Given the description of an element on the screen output the (x, y) to click on. 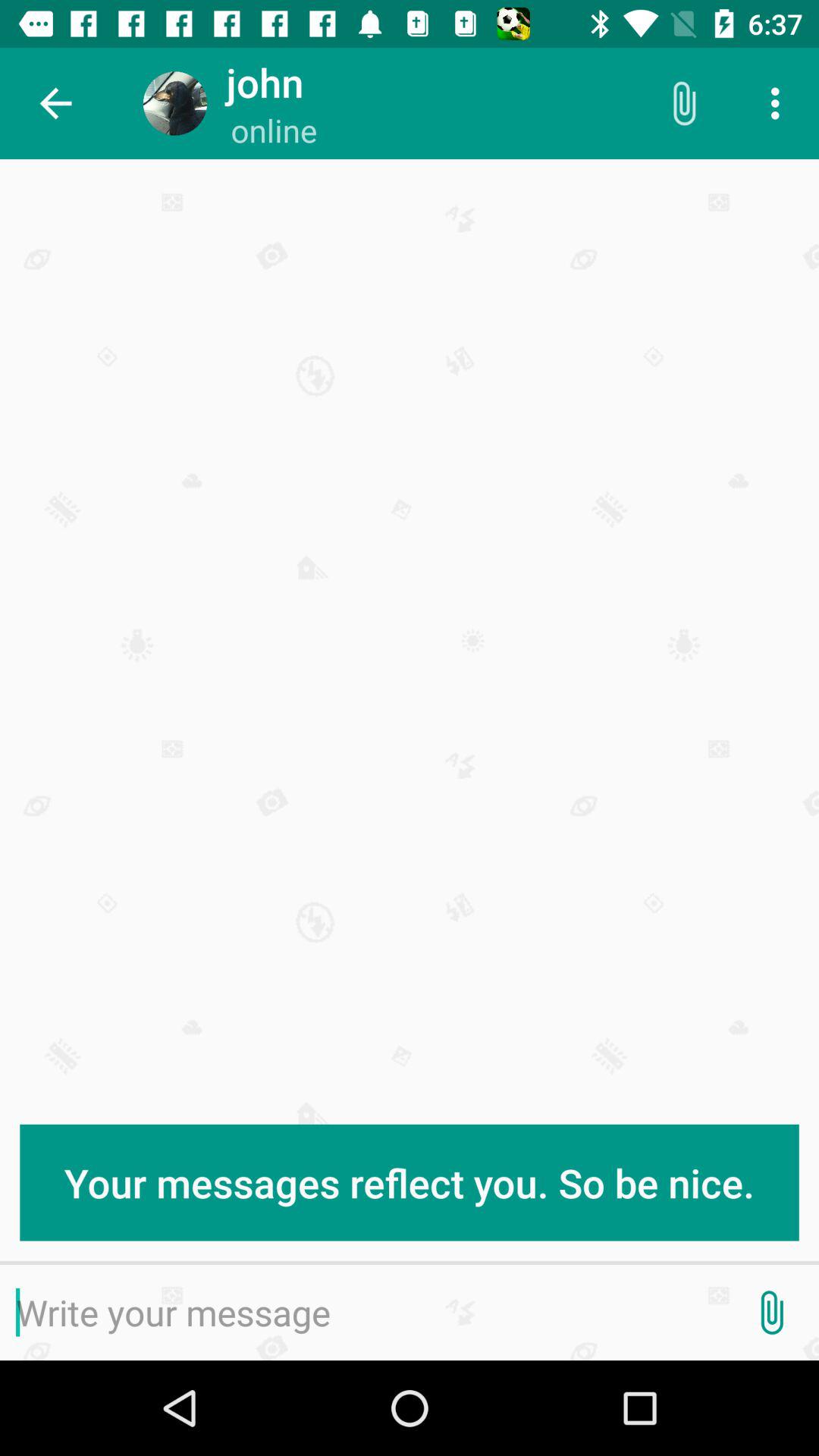
click the attachment (771, 1312)
